Given the description of an element on the screen output the (x, y) to click on. 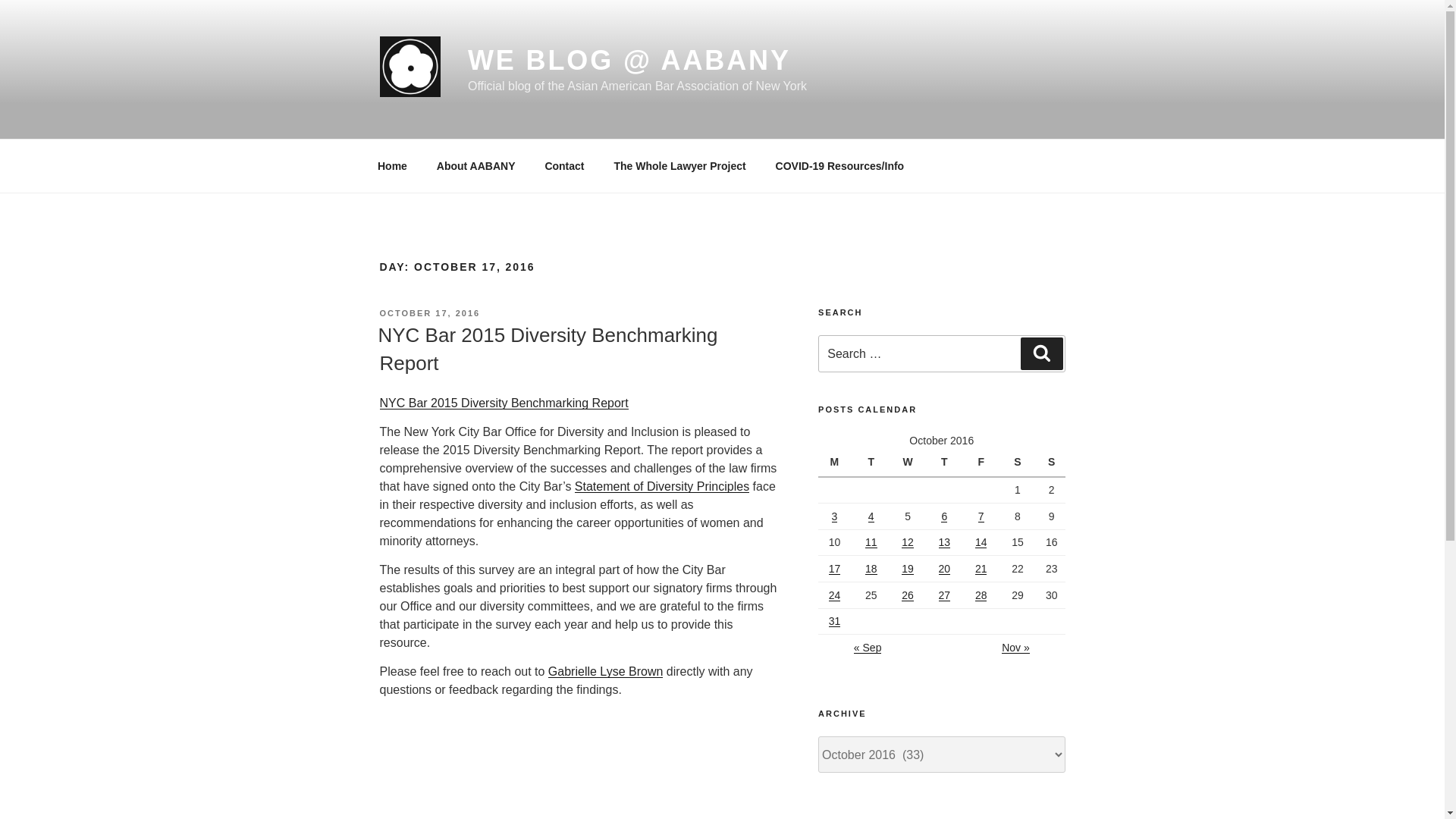
NYC Bar 2015 Diversity Benchmarking Report (502, 402)
Search (1041, 353)
20 (944, 568)
26 (907, 594)
About AABANY (475, 165)
Friday (982, 462)
13 (944, 541)
14 (981, 541)
19 (907, 568)
Thursday (945, 462)
31 (834, 621)
Gabrielle Lyse Brown (605, 671)
Tuesday (872, 462)
Home (392, 165)
NYC Bar 2015 Diversity Benchmarking Report (547, 348)
